Given the description of an element on the screen output the (x, y) to click on. 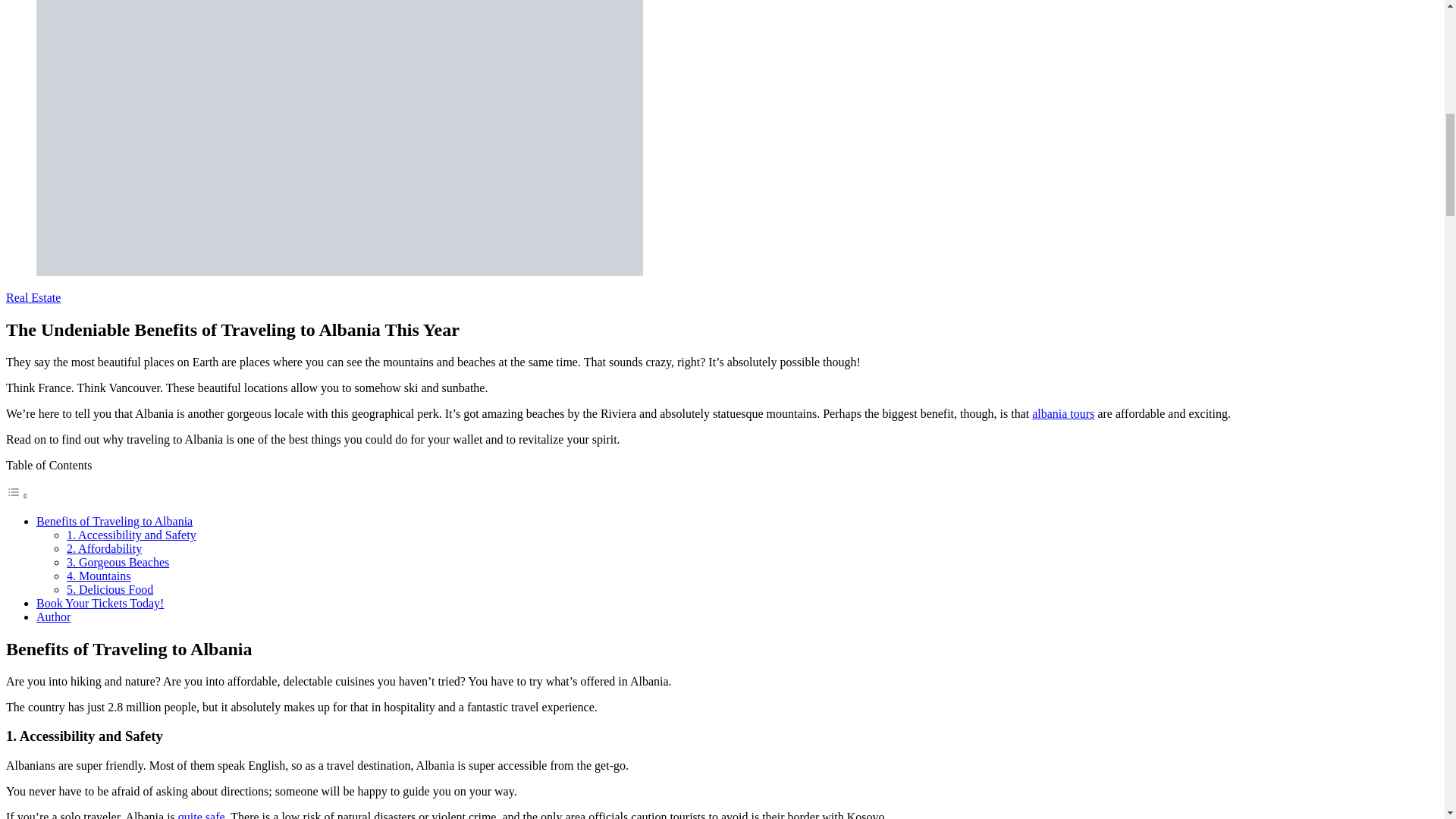
Book Your Tickets Today! (99, 603)
5. Delicious Food (109, 589)
quite safe (201, 814)
4. Mountains (98, 575)
4. Mountains (98, 575)
Book Your Tickets Today! (99, 603)
Author (52, 616)
Benefits of Traveling to Albania (114, 521)
3. Gorgeous Beaches (117, 562)
1. Accessibility and Safety (131, 534)
Real Estate (33, 297)
2. Affordability (103, 548)
3. Gorgeous Beaches (117, 562)
Author (52, 616)
5. Delicious Food (109, 589)
